Given the description of an element on the screen output the (x, y) to click on. 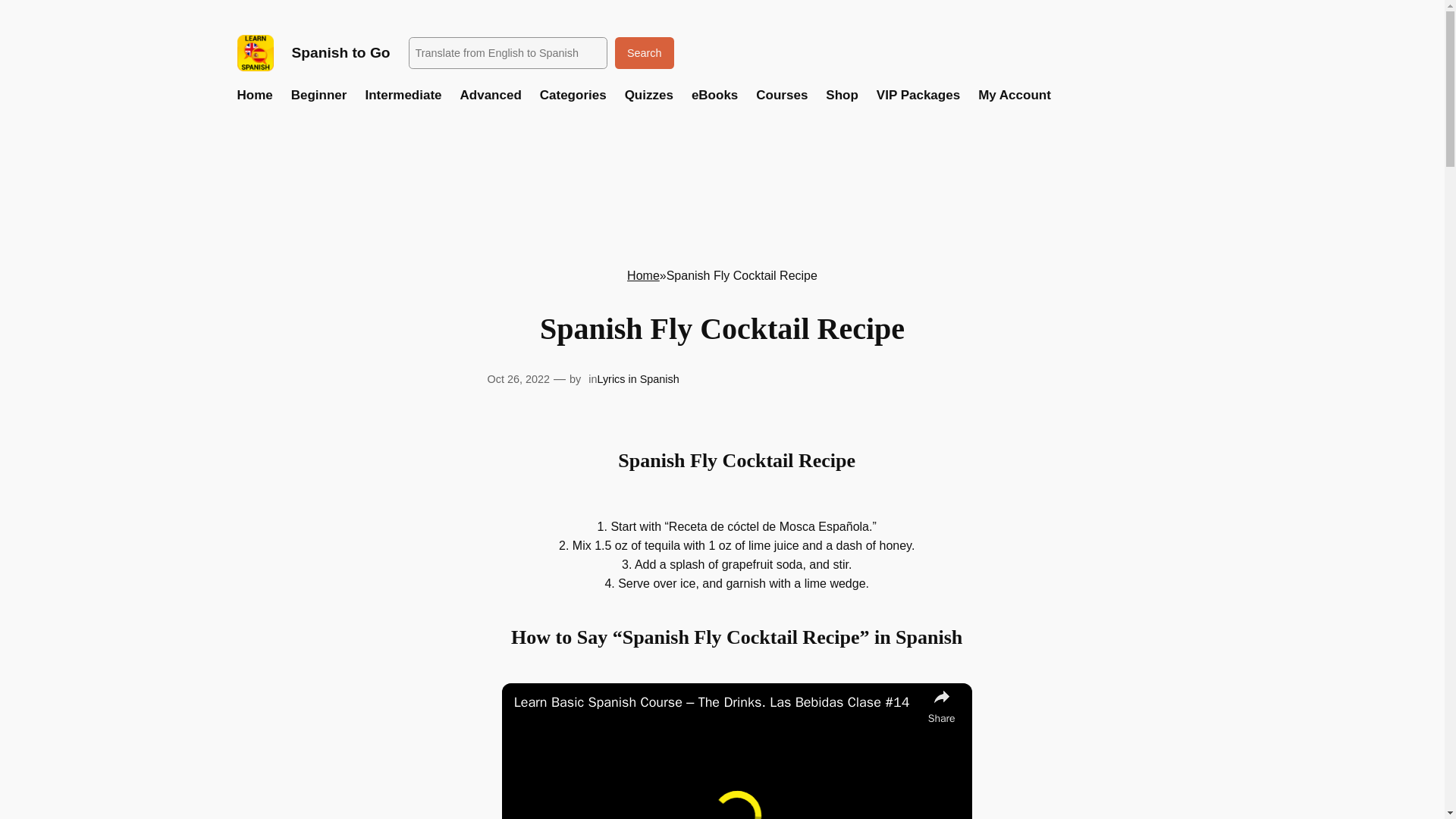
VIP Packages (917, 95)
Advanced (490, 95)
Oct 26, 2022 (517, 378)
Courses (781, 95)
Home (643, 275)
Search (644, 52)
Quizzes (648, 95)
Categories (573, 95)
Spanish to Go (340, 52)
Lyrics in Spanish (637, 378)
Shop (842, 95)
eBooks (714, 95)
Intermediate (403, 95)
Beginner (319, 95)
